Given the description of an element on the screen output the (x, y) to click on. 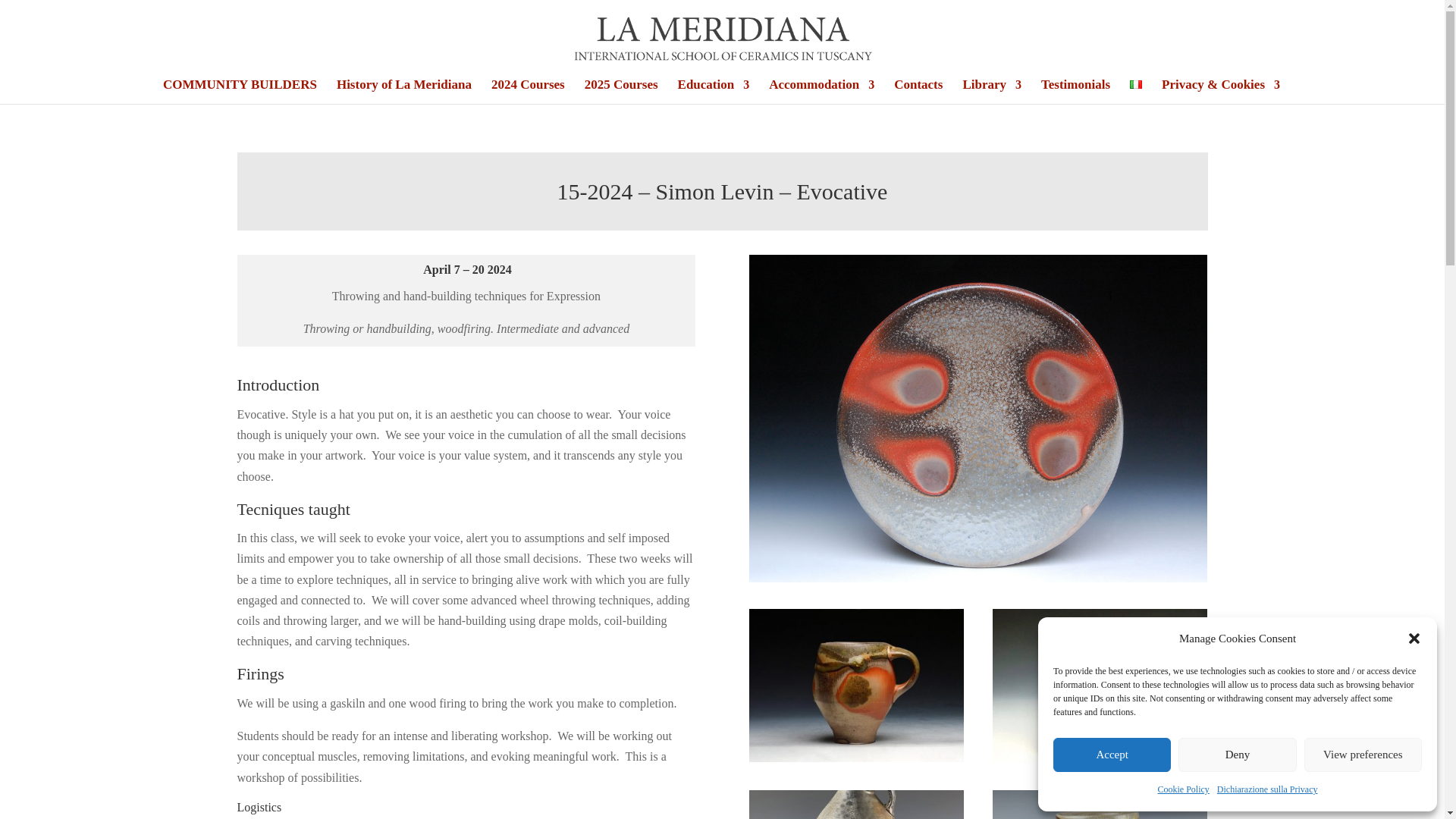
Accept (1111, 754)
Cup by Simon Levin (856, 757)
Deny (1236, 754)
2024 Courses (528, 91)
Woodfired plate by Simon Levin (1100, 757)
Education (713, 91)
Cookie Policy (1183, 789)
2025 Courses (621, 91)
COMMUNITY BUILDERS (240, 91)
View preferences (1363, 754)
History of La Meridiana (403, 91)
Dichiarazione sulla Privacy (1267, 789)
